Given the description of an element on the screen output the (x, y) to click on. 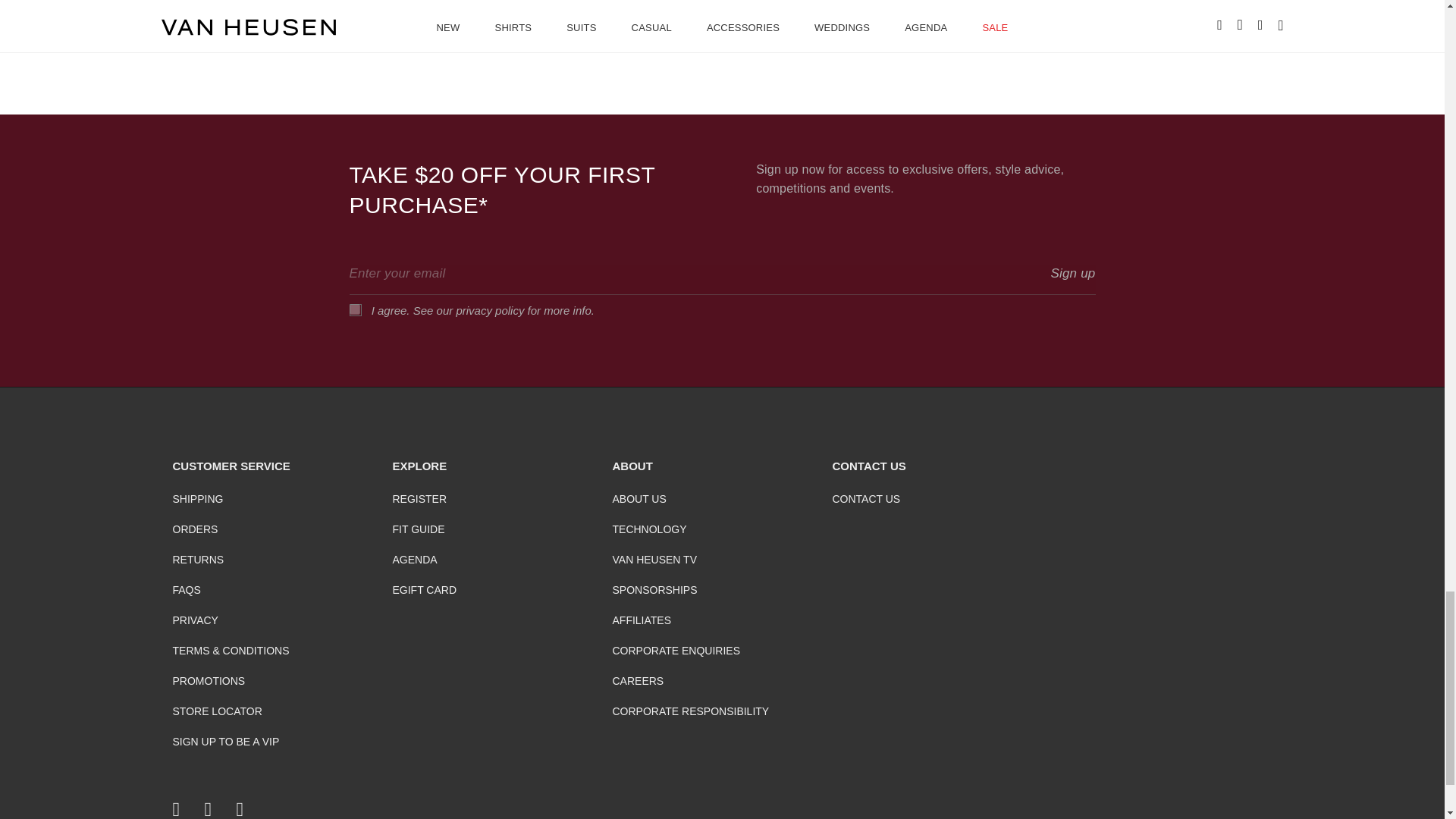
Subscribe (1071, 273)
on (354, 308)
